Given the description of an element on the screen output the (x, y) to click on. 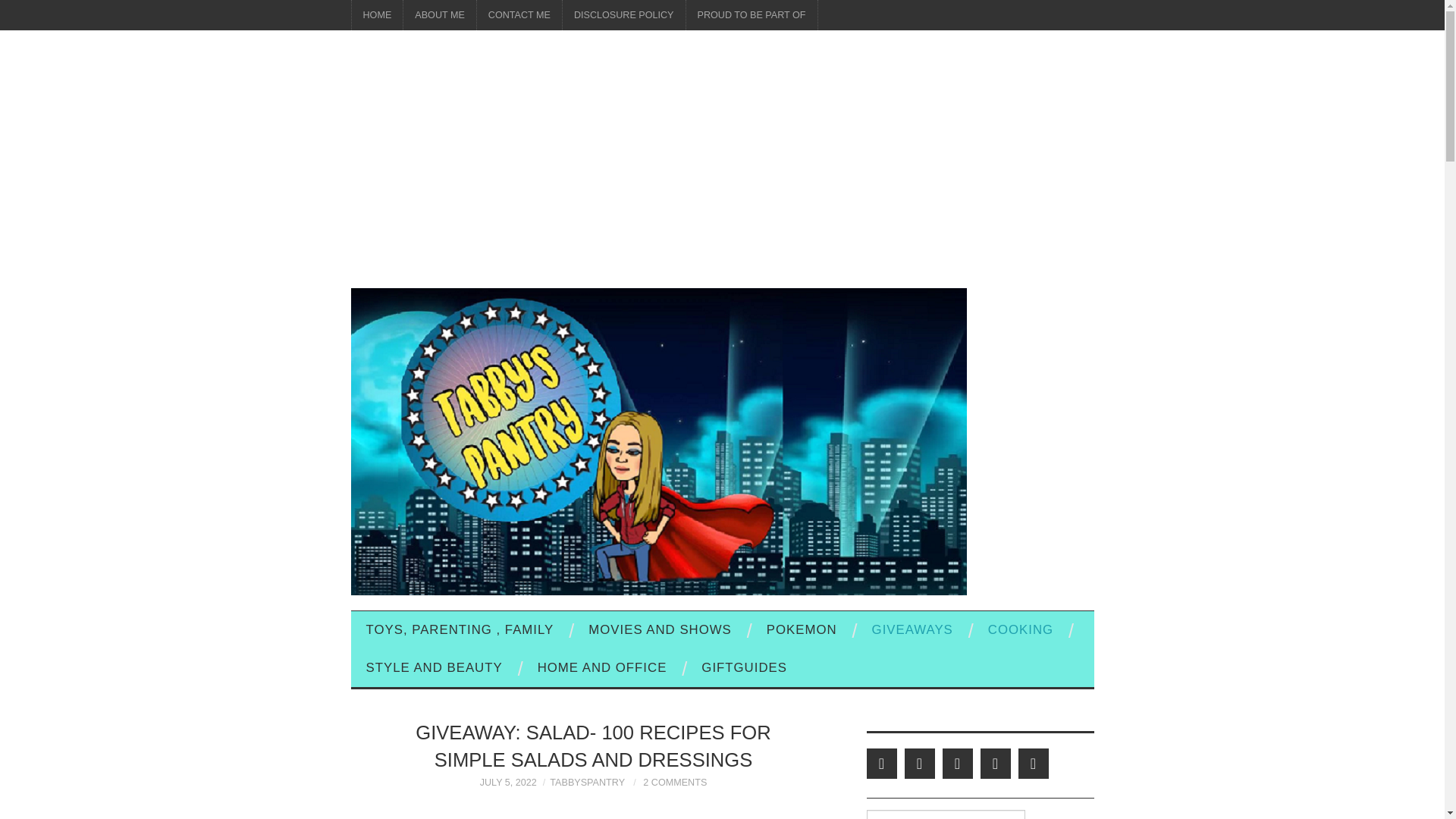
Search for: (945, 814)
TABBYSPANTRY (587, 782)
CONTACT ME (519, 15)
PROUD TO BE PART OF (750, 15)
GIFTGUIDES (743, 668)
Facebook (919, 763)
TOYS, PARENTING , FAMILY (459, 629)
Instagram (1032, 763)
Twitter (881, 763)
POKEMON (801, 629)
